Given the description of an element on the screen output the (x, y) to click on. 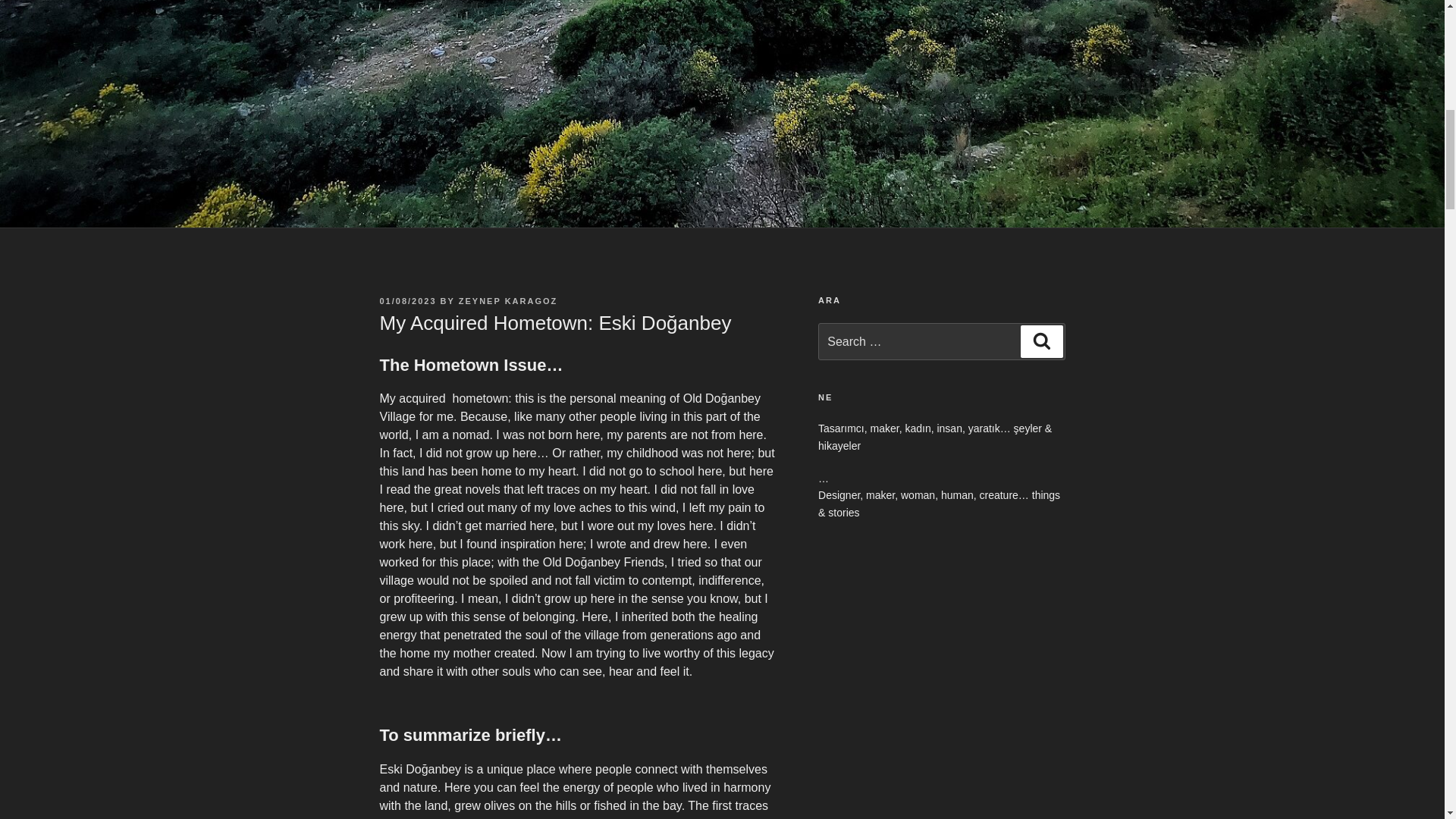
Search (1041, 341)
ZEYNEP KARAGOZ (507, 300)
